Given the description of an element on the screen output the (x, y) to click on. 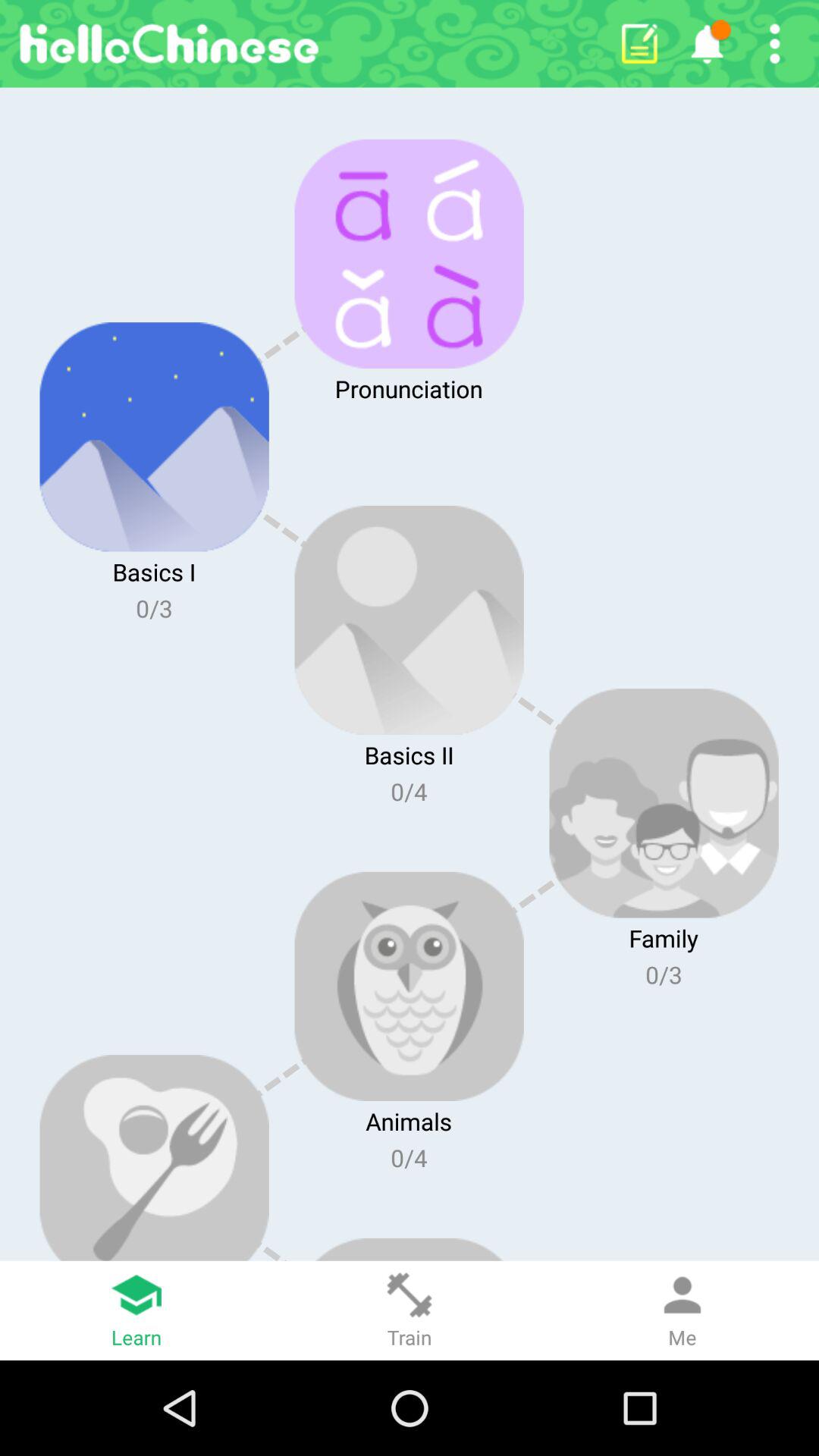
menu items (774, 43)
